Given the description of an element on the screen output the (x, y) to click on. 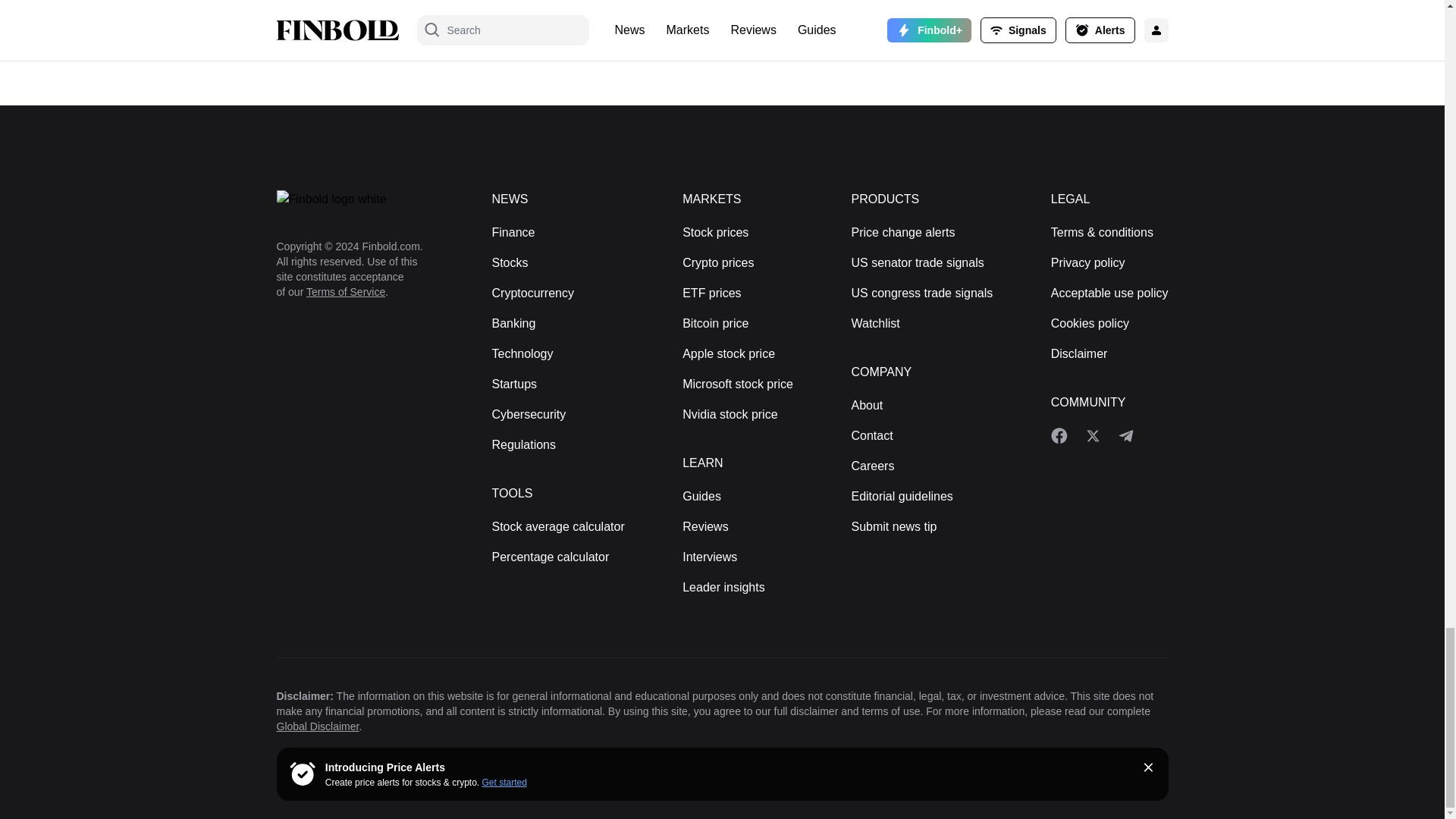
Finance News (513, 232)
Finbold homepage (359, 199)
